Given the description of an element on the screen output the (x, y) to click on. 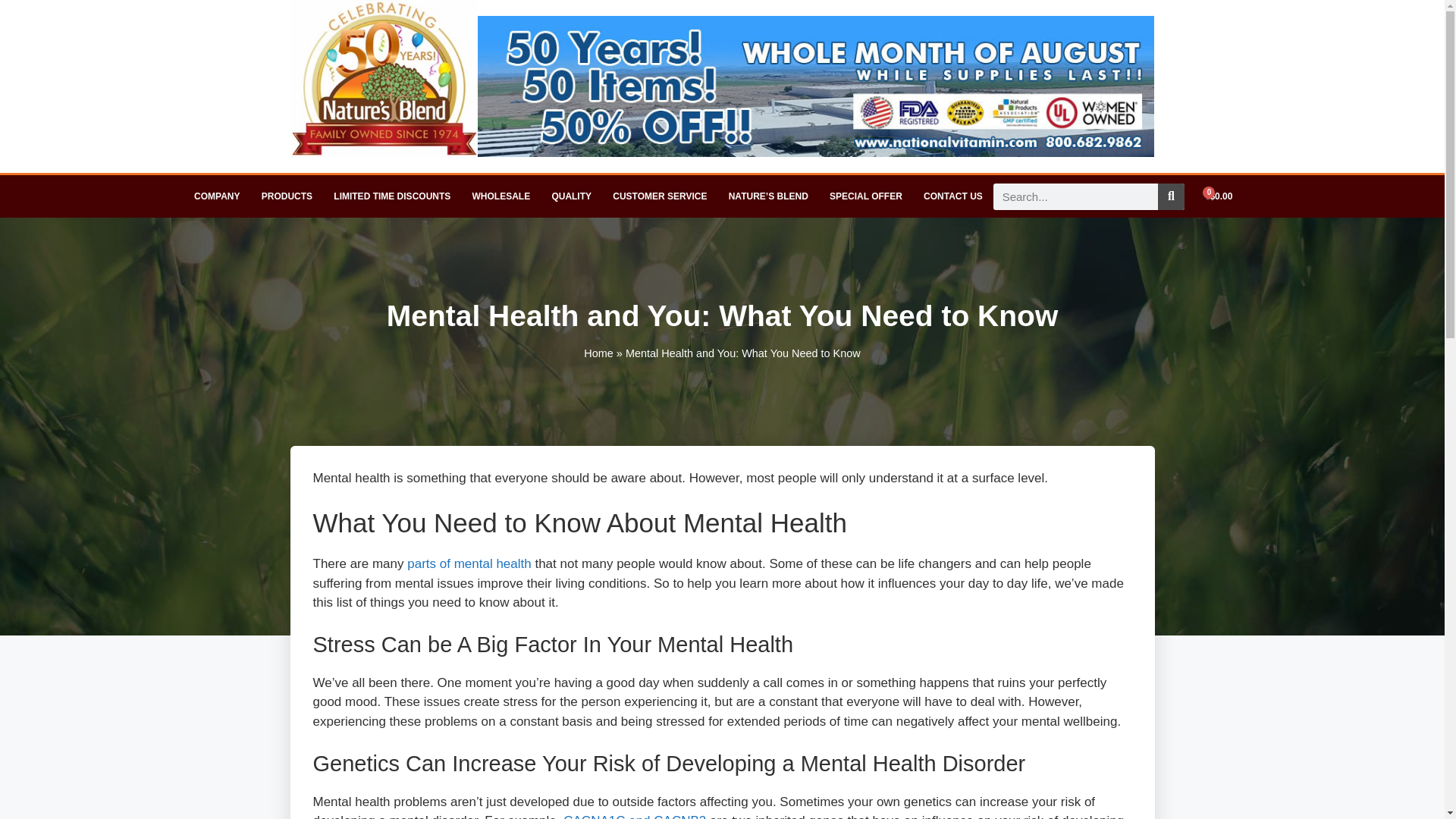
PRODUCTS (286, 196)
LIMITED TIME DISCOUNTS (392, 196)
CUSTOMER SERVICE (659, 196)
SPECIAL OFFER (865, 196)
CONTACT US (952, 196)
COMPANY (216, 196)
WHOLESALE (500, 196)
QUALITY (571, 196)
